Given the description of an element on the screen output the (x, y) to click on. 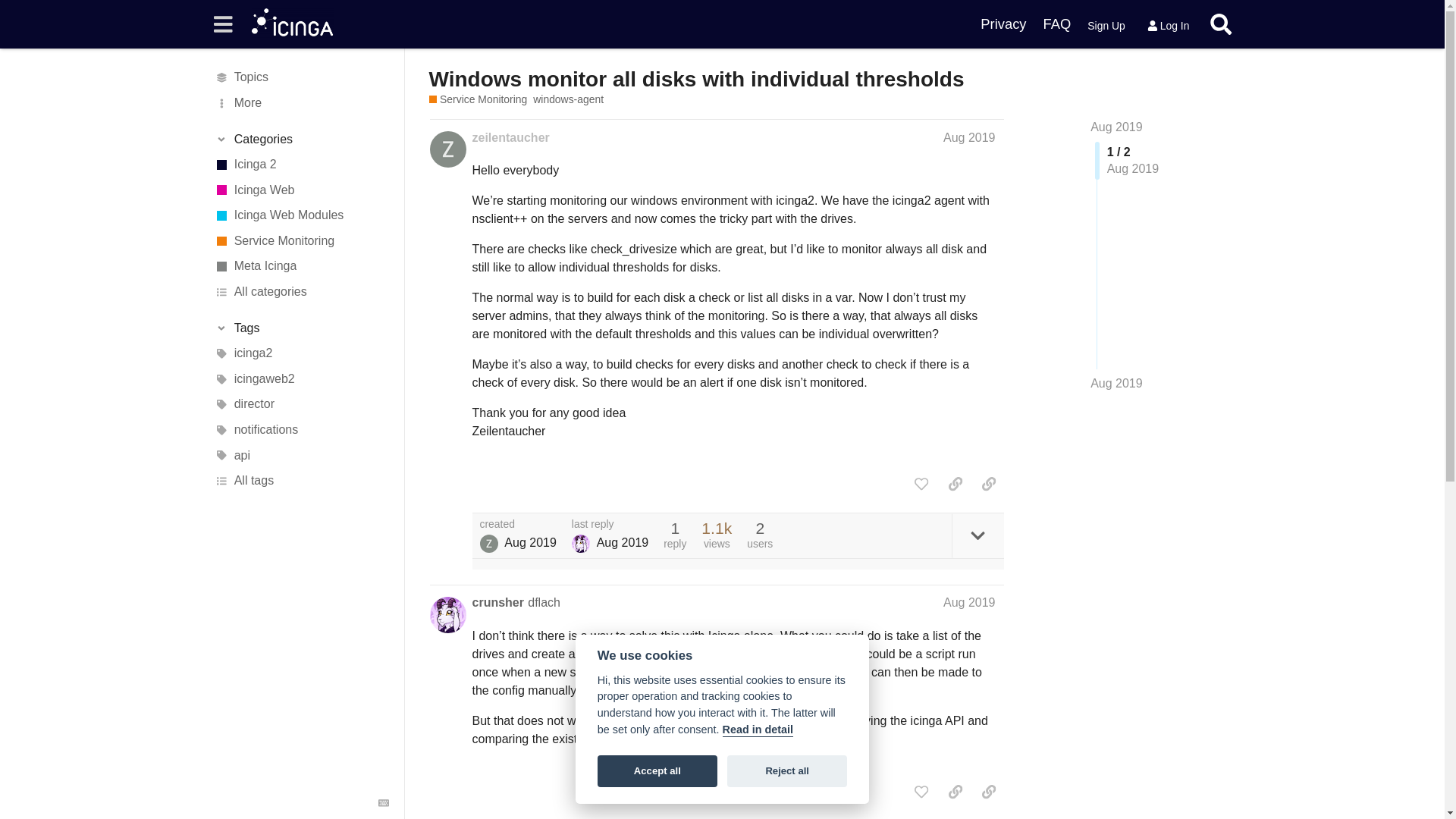
Keyboard Shortcuts (384, 802)
Categories (301, 139)
Meta Icinga (301, 266)
Aug 2019 (1116, 126)
Windows monitor all disks with individual thresholds (696, 78)
Privacy (1002, 23)
Toggle section (301, 328)
Icinga Web (301, 190)
api (301, 455)
Aug 2019 (1116, 383)
